Given the description of an element on the screen output the (x, y) to click on. 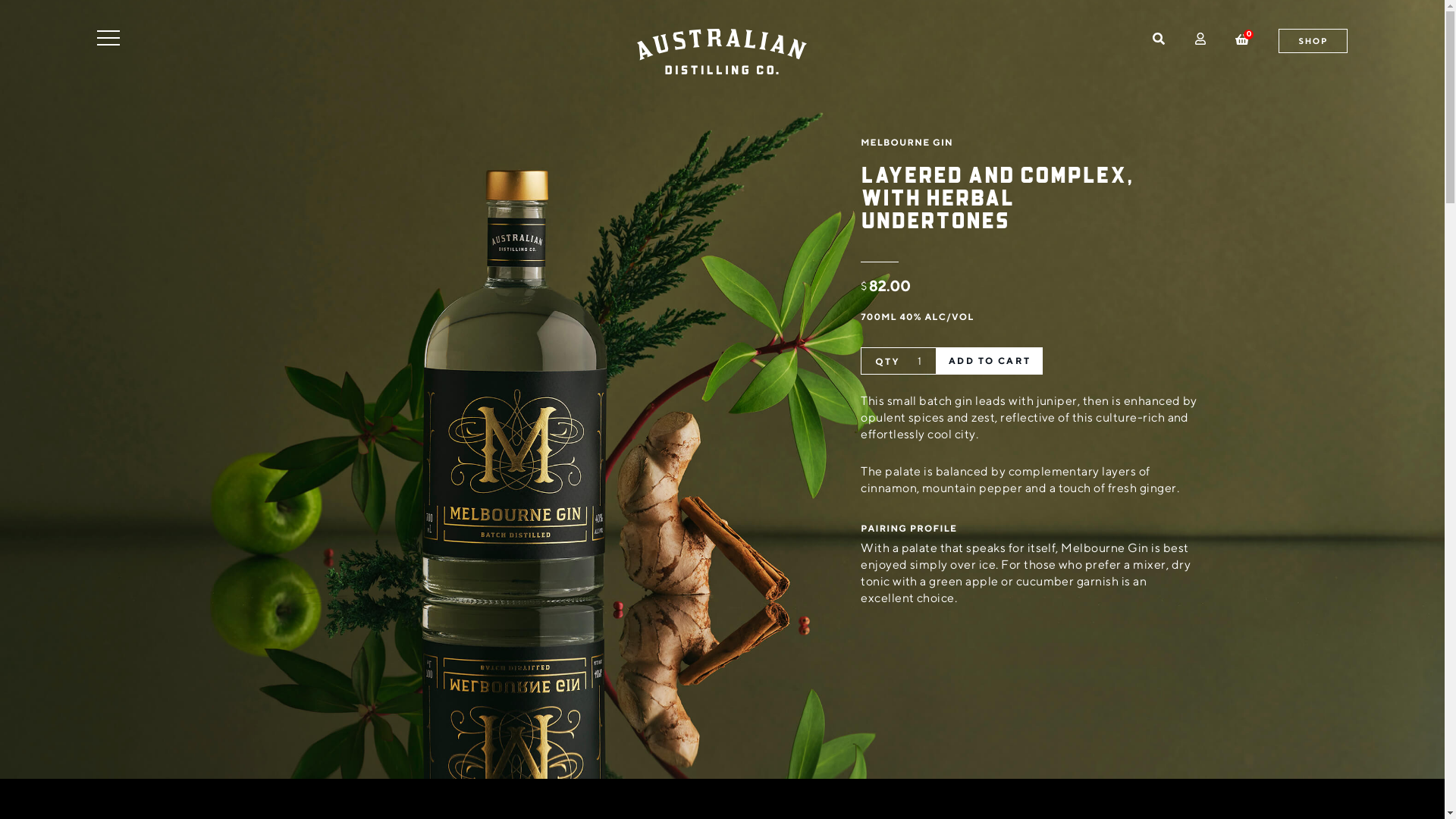
ADD TO CART Element type: text (989, 360)
SHOP Element type: text (1312, 40)
0 Element type: text (1241, 38)
